Given the description of an element on the screen output the (x, y) to click on. 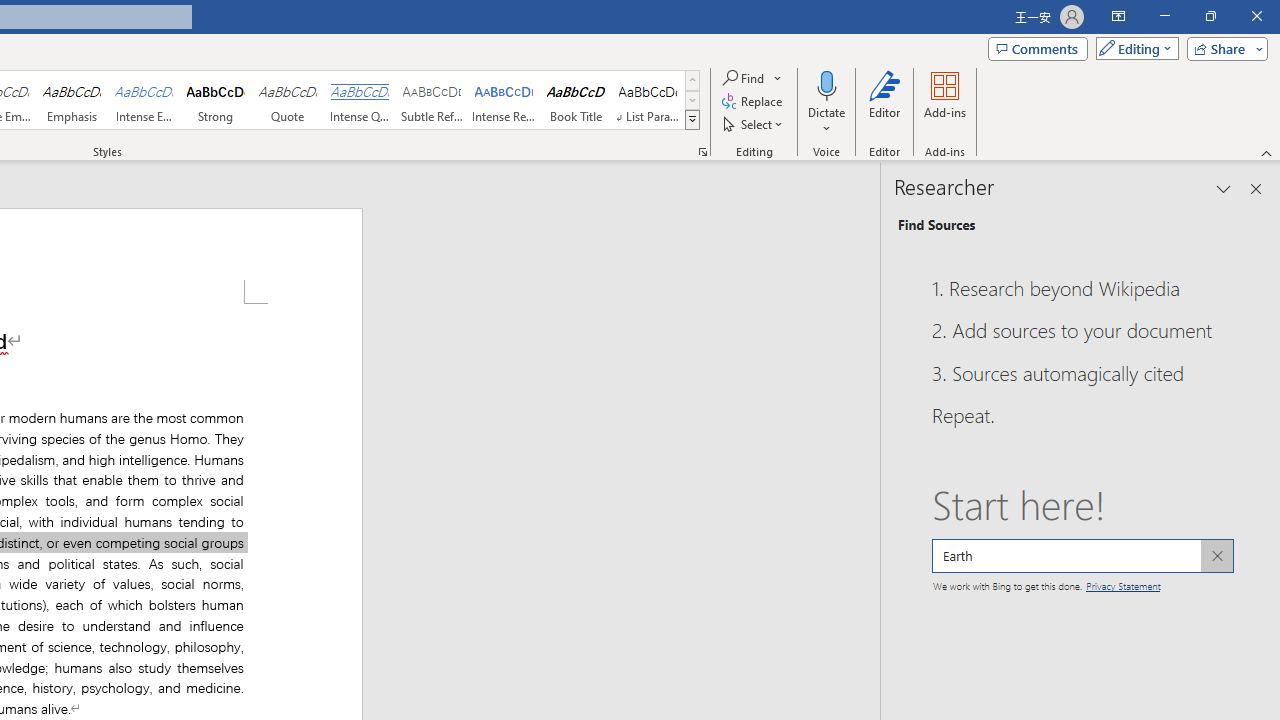
Replace... (753, 101)
Find (744, 78)
Dictate (826, 84)
Quote (287, 100)
Ribbon Display Options (1118, 16)
Intense Quote (359, 100)
Find (753, 78)
Mode (1133, 47)
Intense Reference (504, 100)
Restore Down (1210, 16)
Find Sources (936, 224)
Subtle Reference (431, 100)
Share (1223, 48)
Strong (216, 100)
Research people, events, concepts, and places (1082, 556)
